Given the description of an element on the screen output the (x, y) to click on. 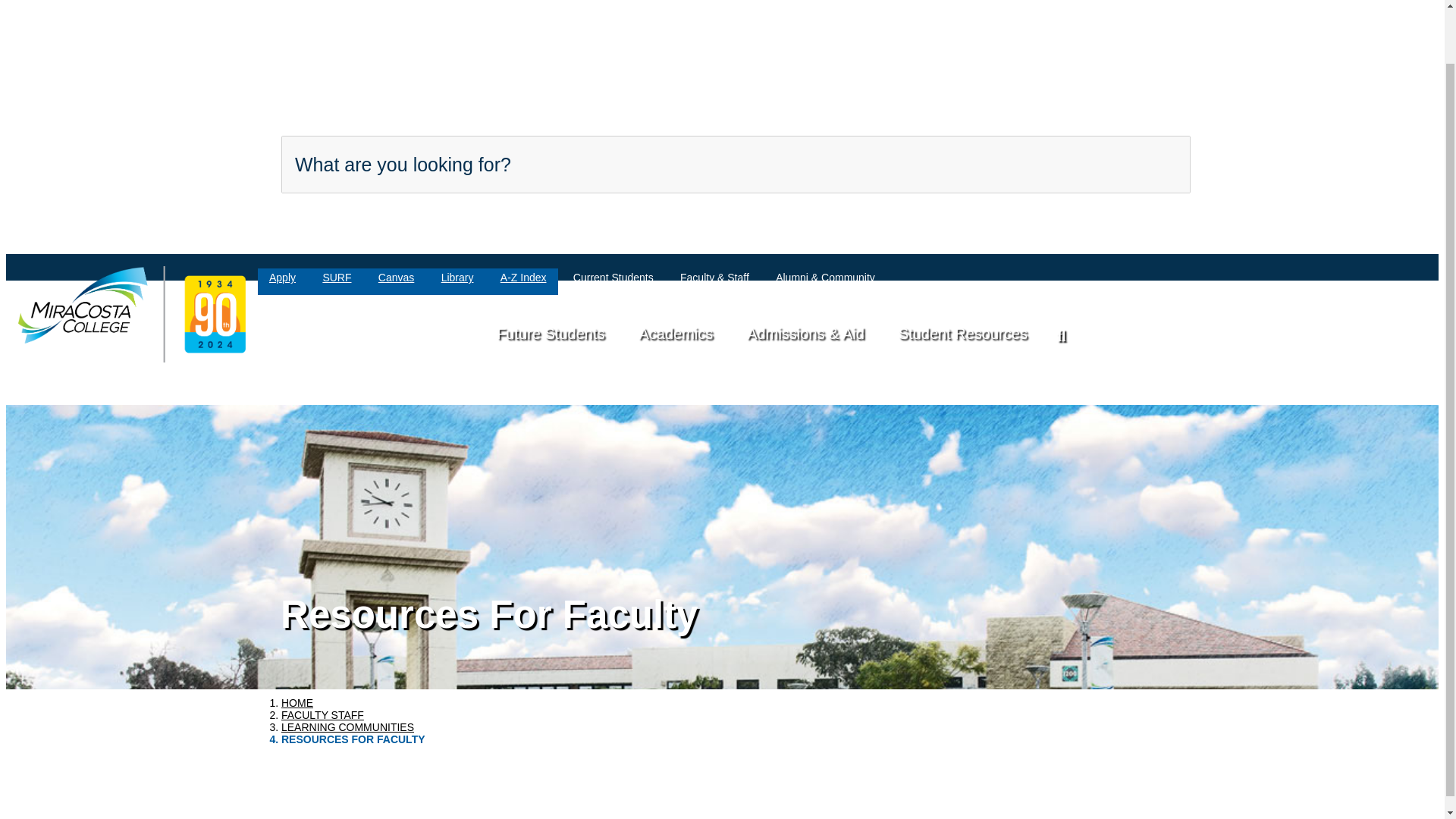
What are you looking for? (736, 164)
What are you looking for? (736, 164)
The MiraCosta College Library (457, 279)
Current MiraCosta Student Resources (613, 279)
Academics (675, 331)
Current MiraCosta College Student Resources (962, 331)
Canvas (395, 279)
Future Students (549, 331)
Register and Add Classes with SURF (336, 279)
Search (1117, 162)
